Given the description of an element on the screen output the (x, y) to click on. 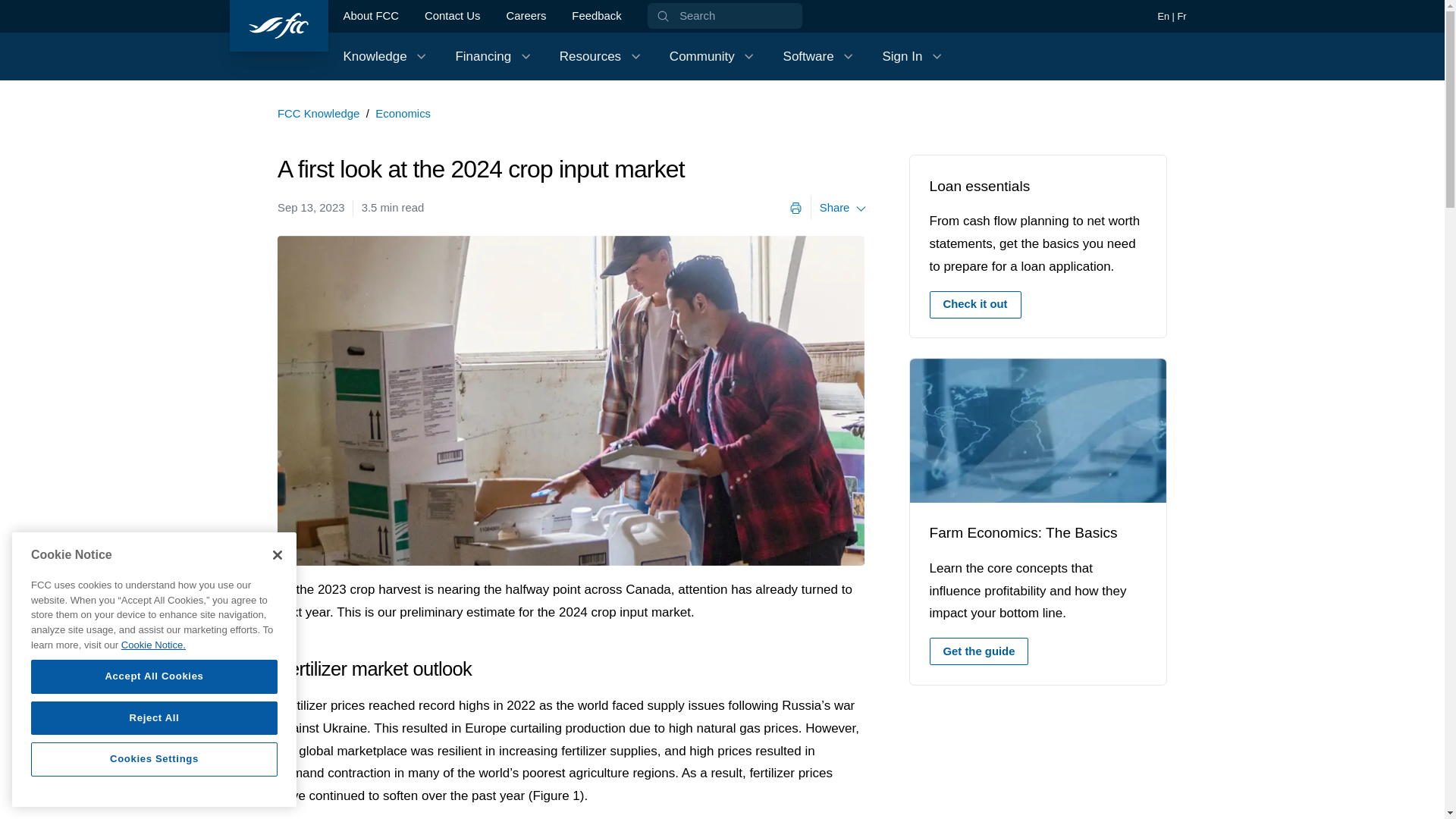
Sign In (913, 56)
Contact Us (452, 16)
FCC Knowledge (318, 113)
Knowledge (976, 304)
Print (385, 56)
Search (795, 207)
Resources (724, 15)
Get the guide (601, 56)
Software (979, 651)
Careers (820, 56)
Community (526, 16)
FCC (713, 56)
About FCC (277, 25)
Financing (370, 16)
